Given the description of an element on the screen output the (x, y) to click on. 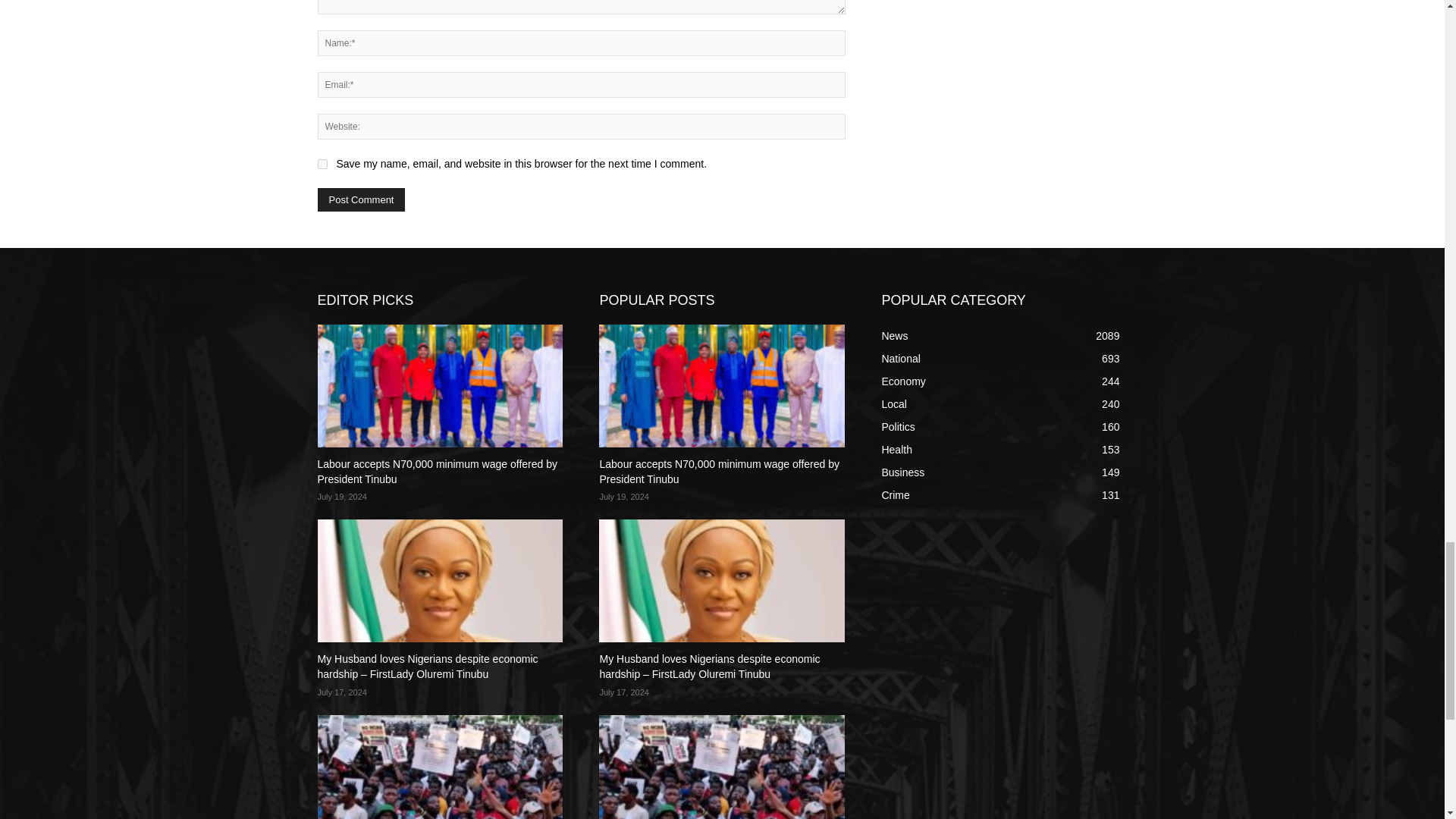
Post Comment (360, 199)
yes (321, 163)
